Given the description of an element on the screen output the (x, y) to click on. 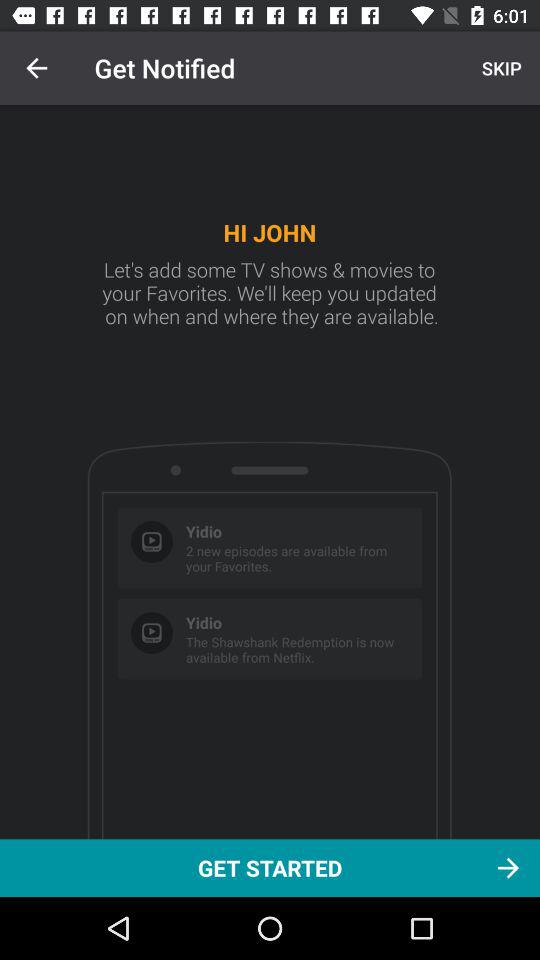
choose the item next to the get notified icon (499, 67)
